Given the description of an element on the screen output the (x, y) to click on. 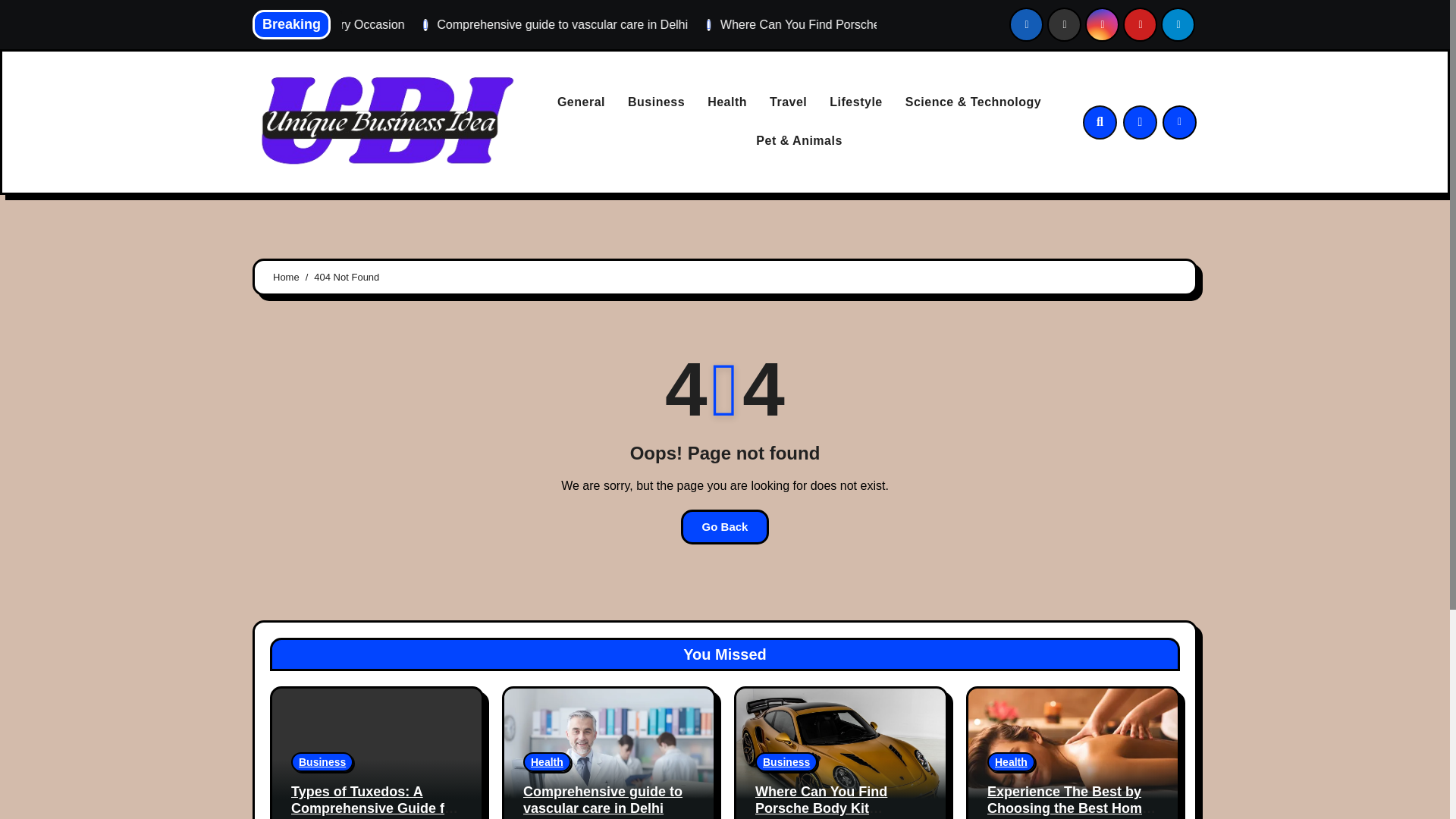
Business (322, 762)
General (580, 102)
Health (546, 762)
General (580, 102)
Permalink to: Comprehensive guide to vascular care in Delhi (602, 799)
Comprehensive guide to vascular care in Delhi (757, 24)
Types of Tuxedos: A Comprehensive Guide for Every Occasion (434, 24)
Health (726, 102)
